Given the description of an element on the screen output the (x, y) to click on. 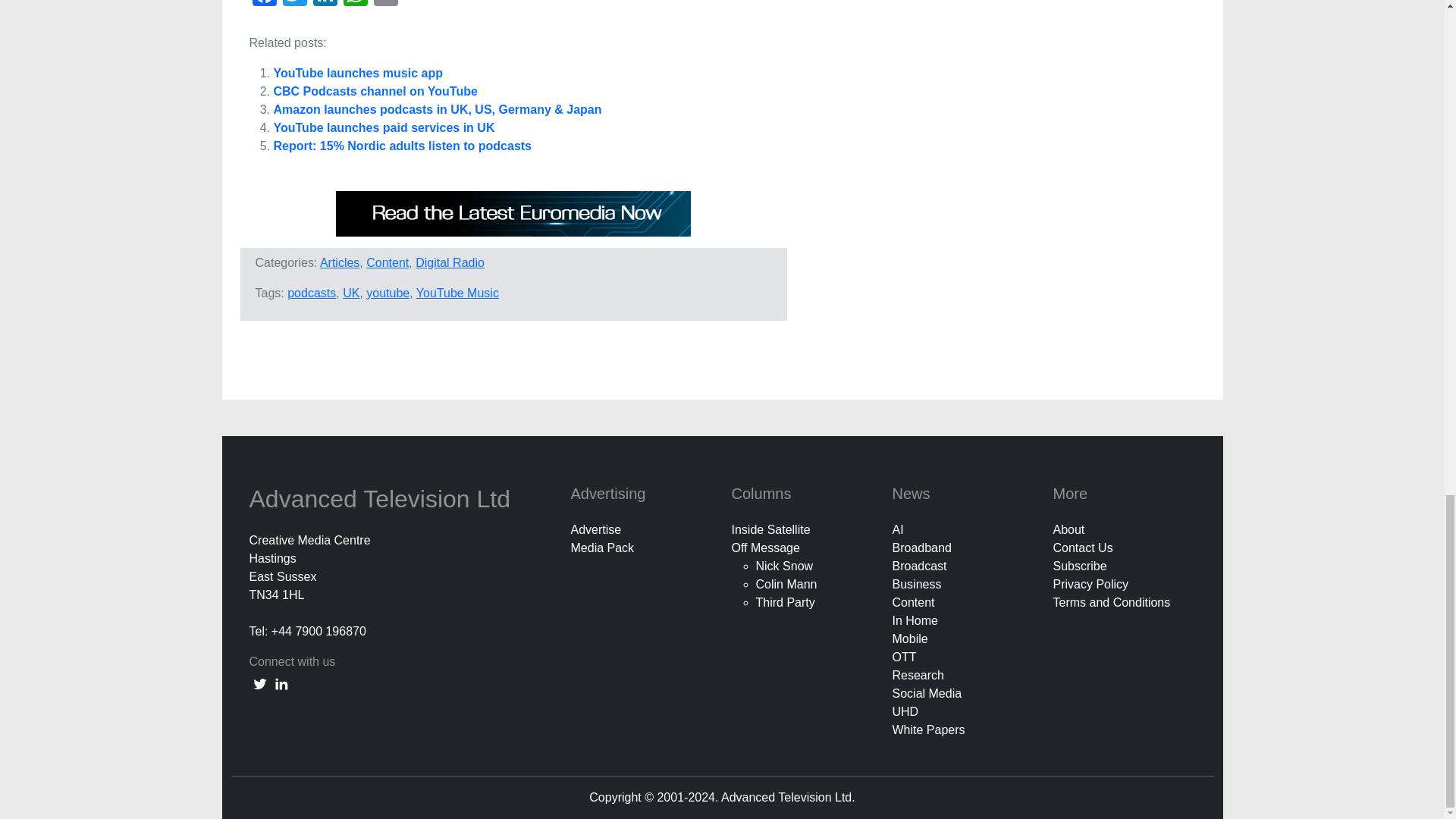
WhatsApp (354, 4)
Twitter (293, 4)
Facebook (263, 4)
youtube (387, 292)
Digital Radio (449, 262)
LinkedIn (323, 4)
podcasts (311, 292)
Email (384, 4)
YouTube launches paid services in UK (384, 127)
LinkedIn (323, 4)
YouTube launches music app (357, 72)
YouTube launches paid services in UK (384, 127)
CBC Podcasts channel on YouTube (375, 91)
WhatsApp (354, 4)
CBC Podcasts channel on YouTube (375, 91)
